Given the description of an element on the screen output the (x, y) to click on. 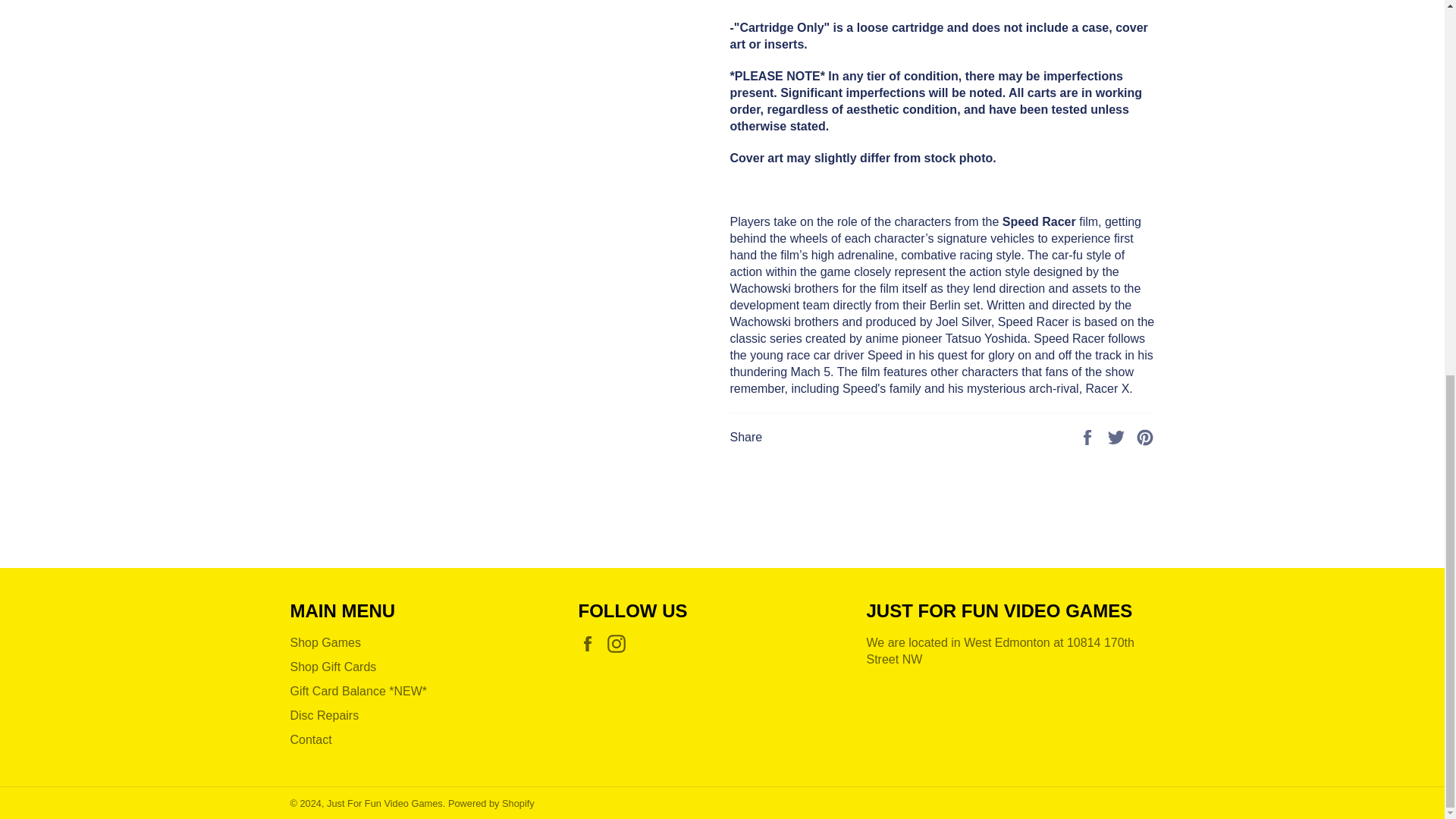
Just For Fun Video Games on Facebook (591, 643)
Share on Facebook (1088, 436)
Pin on Pinterest (1144, 436)
Just For Fun Video Games on Instagram (620, 643)
Tweet on Twitter (1117, 436)
